Given the description of an element on the screen output the (x, y) to click on. 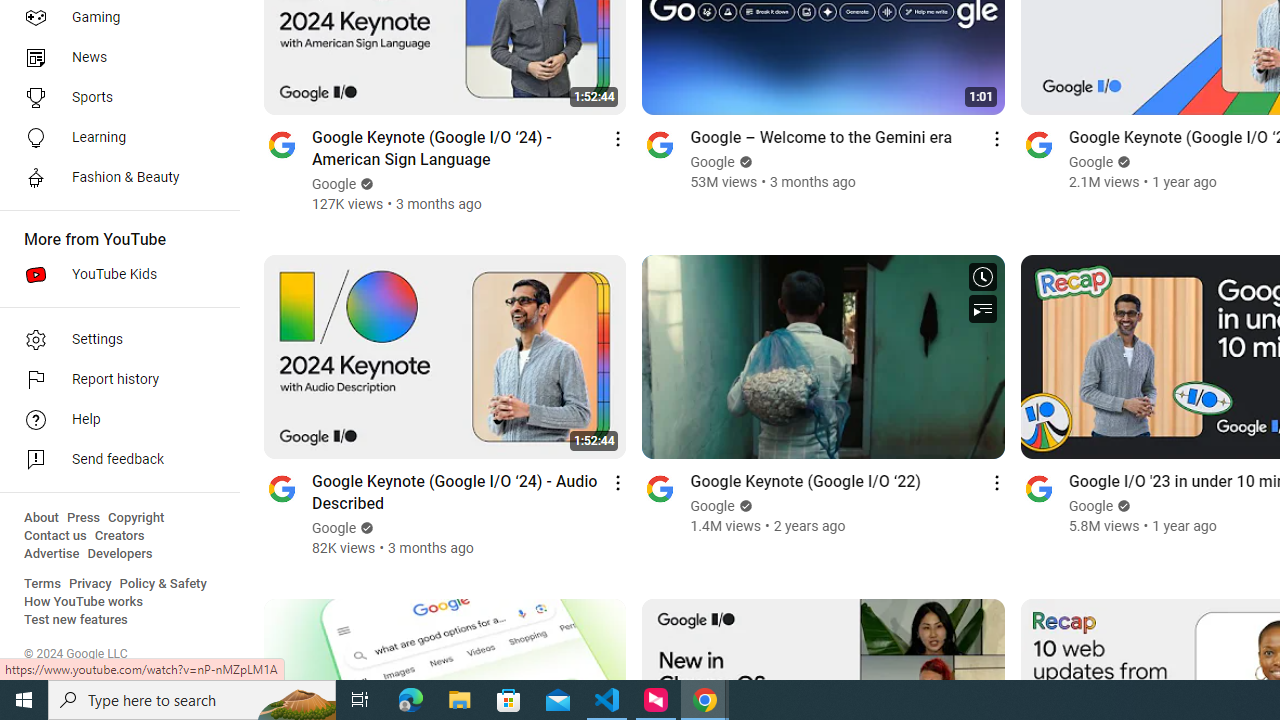
Report history (113, 380)
Policy & Safety (163, 584)
News (113, 57)
Action menu (996, 482)
YouTube Kids (113, 274)
Send feedback (113, 459)
Settings (113, 339)
Test new features (76, 620)
Sports (113, 97)
Developers (120, 554)
Contact us (55, 536)
Privacy (89, 584)
Verified (1122, 506)
